Given the description of an element on the screen output the (x, y) to click on. 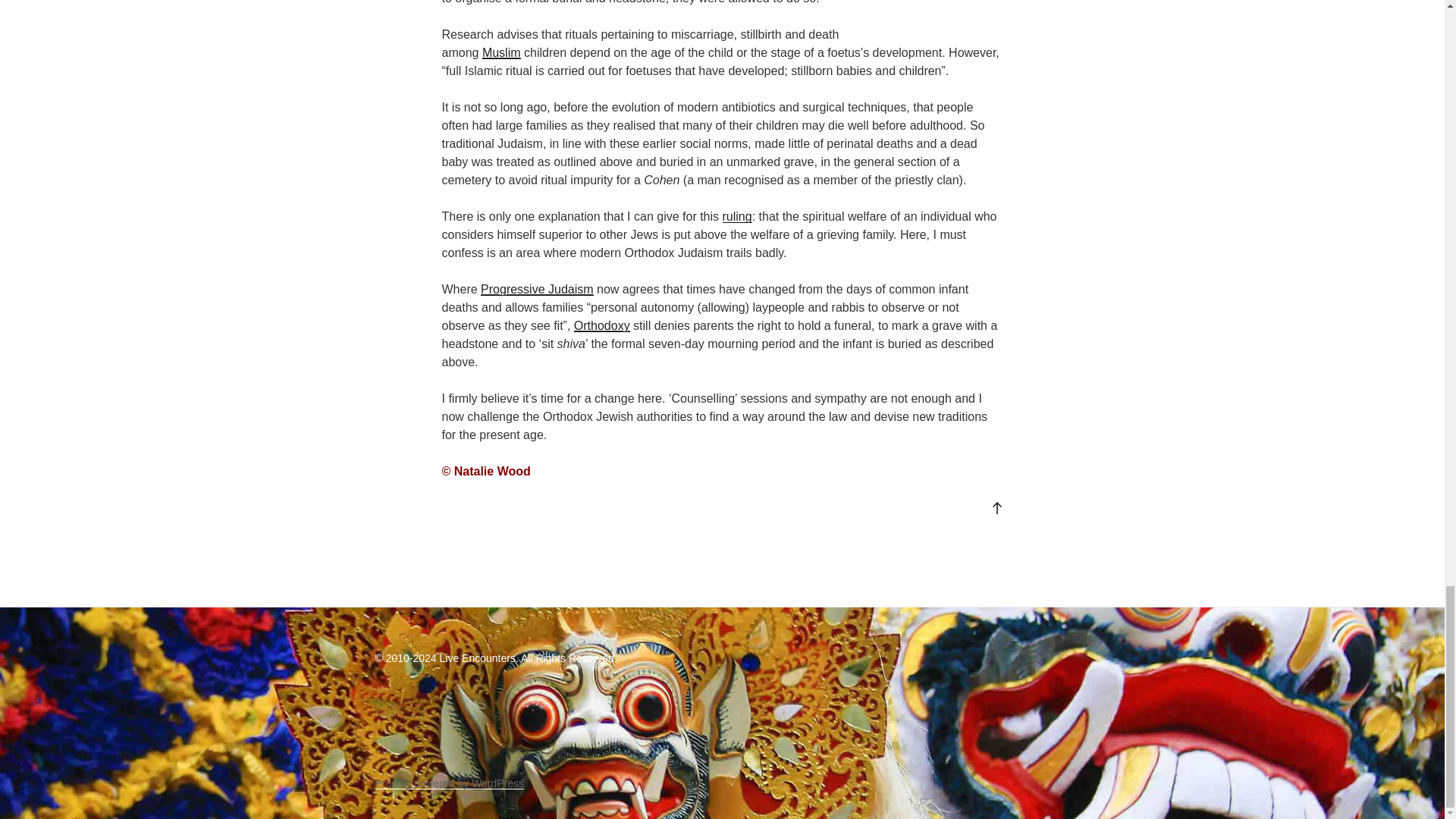
ruling (736, 215)
Progressive Judaism (537, 288)
Proudly powered by WordPress (449, 783)
Orthodoxy (601, 325)
Muslim (501, 51)
Back to top (996, 507)
